Given the description of an element on the screen output the (x, y) to click on. 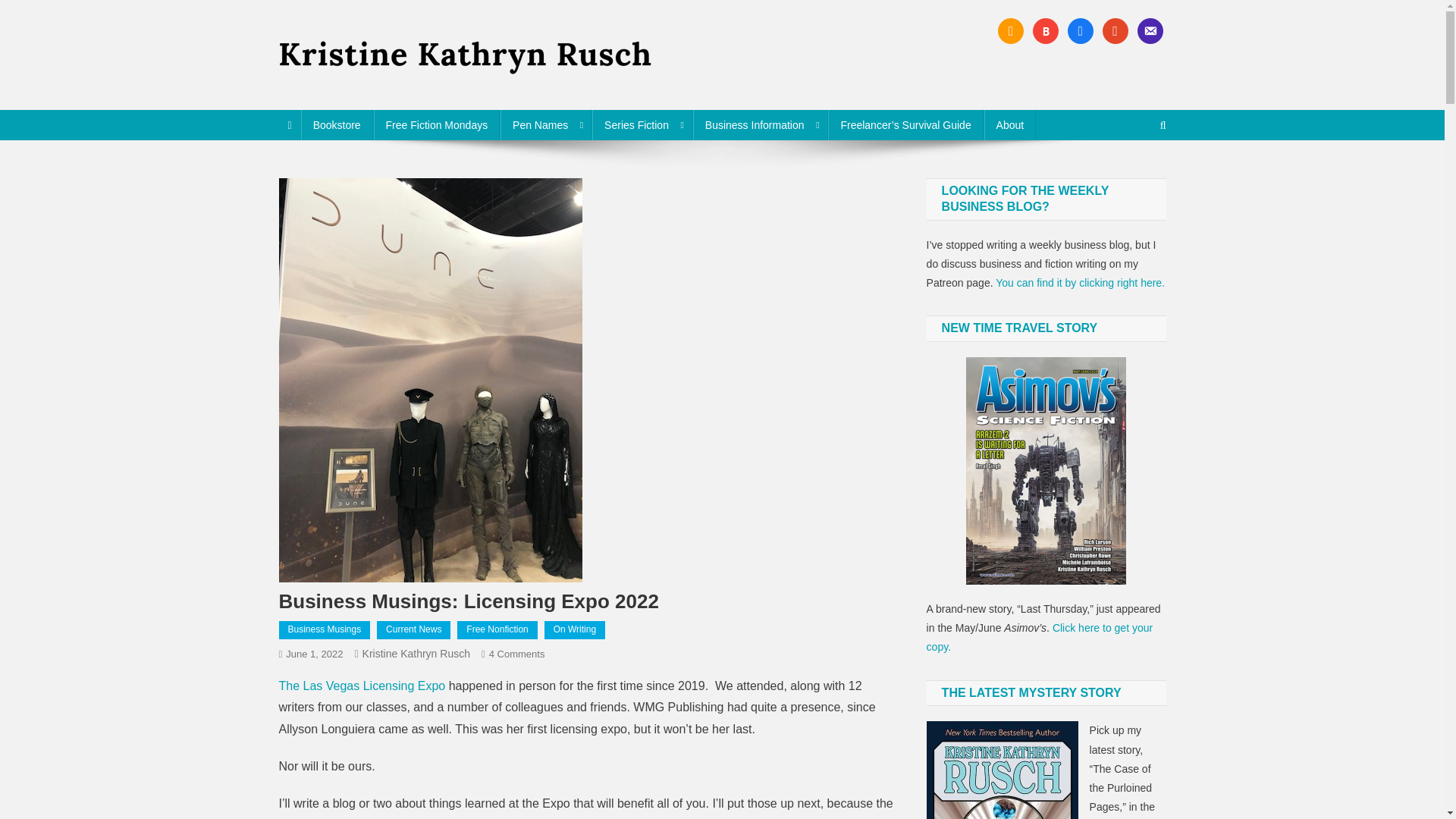
Facebook (1010, 30)
Search (1133, 175)
email-alt (1150, 30)
Business Musings (325, 629)
Pen Names (545, 124)
Kristine Kathryn Rusch (416, 653)
amazon (1010, 30)
The Las Vegas Licensing Expo (362, 685)
facebook (1080, 30)
Instagram (1080, 30)
patreon (1115, 30)
Bookstore (516, 654)
editor-bold (336, 124)
Twitter (1045, 30)
